Given the description of an element on the screen output the (x, y) to click on. 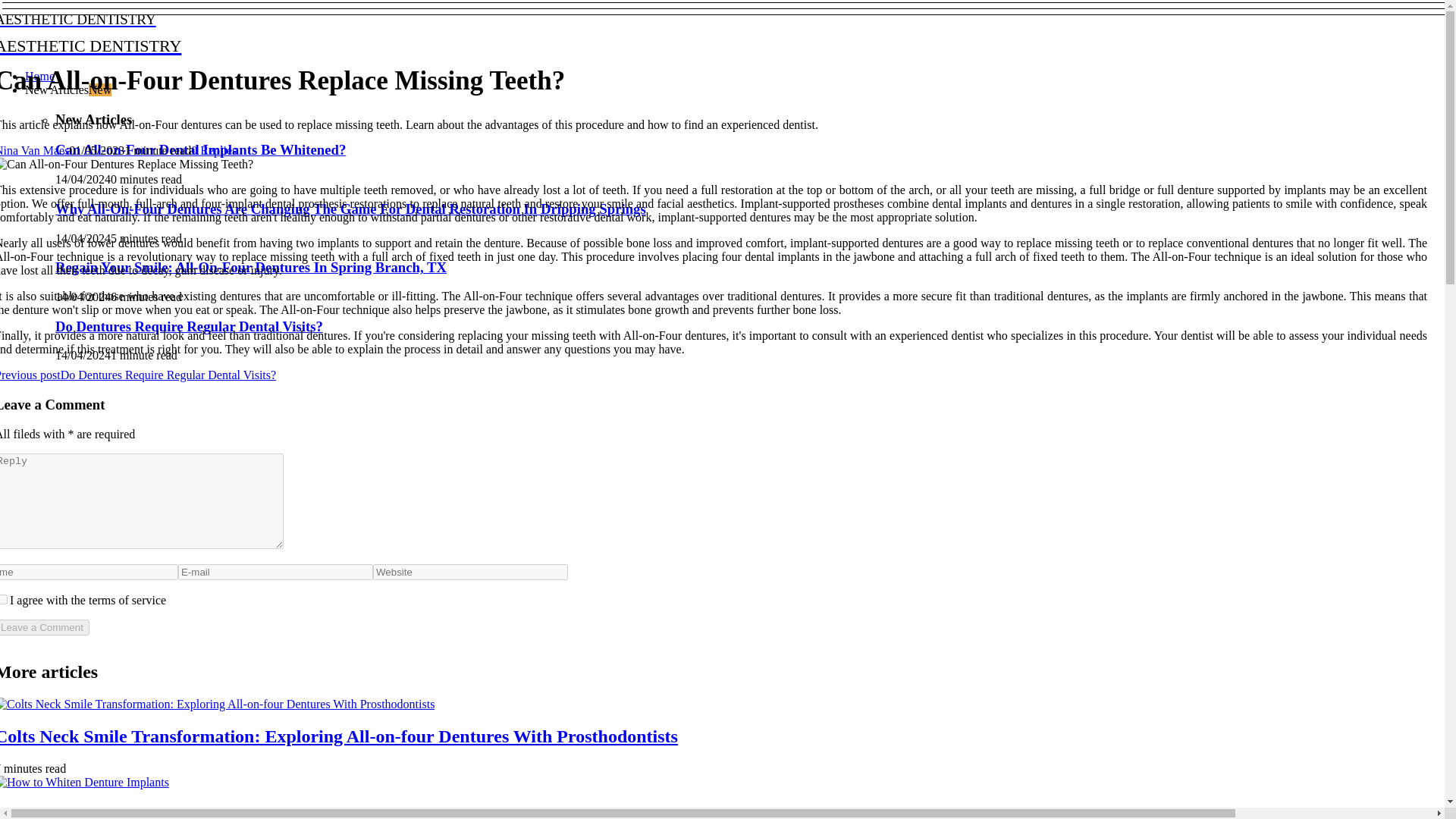
New ArticlesNew (68, 89)
Leave a Comment (44, 627)
Nina Van Maes (34, 150)
yes (3, 599)
Can All-on-Four Dental Implants Be Whitened? (200, 149)
Do Dentures Require Regular Dental Visits? (189, 326)
Posts by Nina Van Maes (34, 150)
How to Whiten Denture Implants (127, 811)
0 Replies (212, 150)
Leave a Comment (44, 627)
Previous postDo Dentures Require Regular Dental Visits? (138, 374)
Regain Your Smile: All-On-Four Dentures In Spring Branch, TX (323, 31)
